Given the description of an element on the screen output the (x, y) to click on. 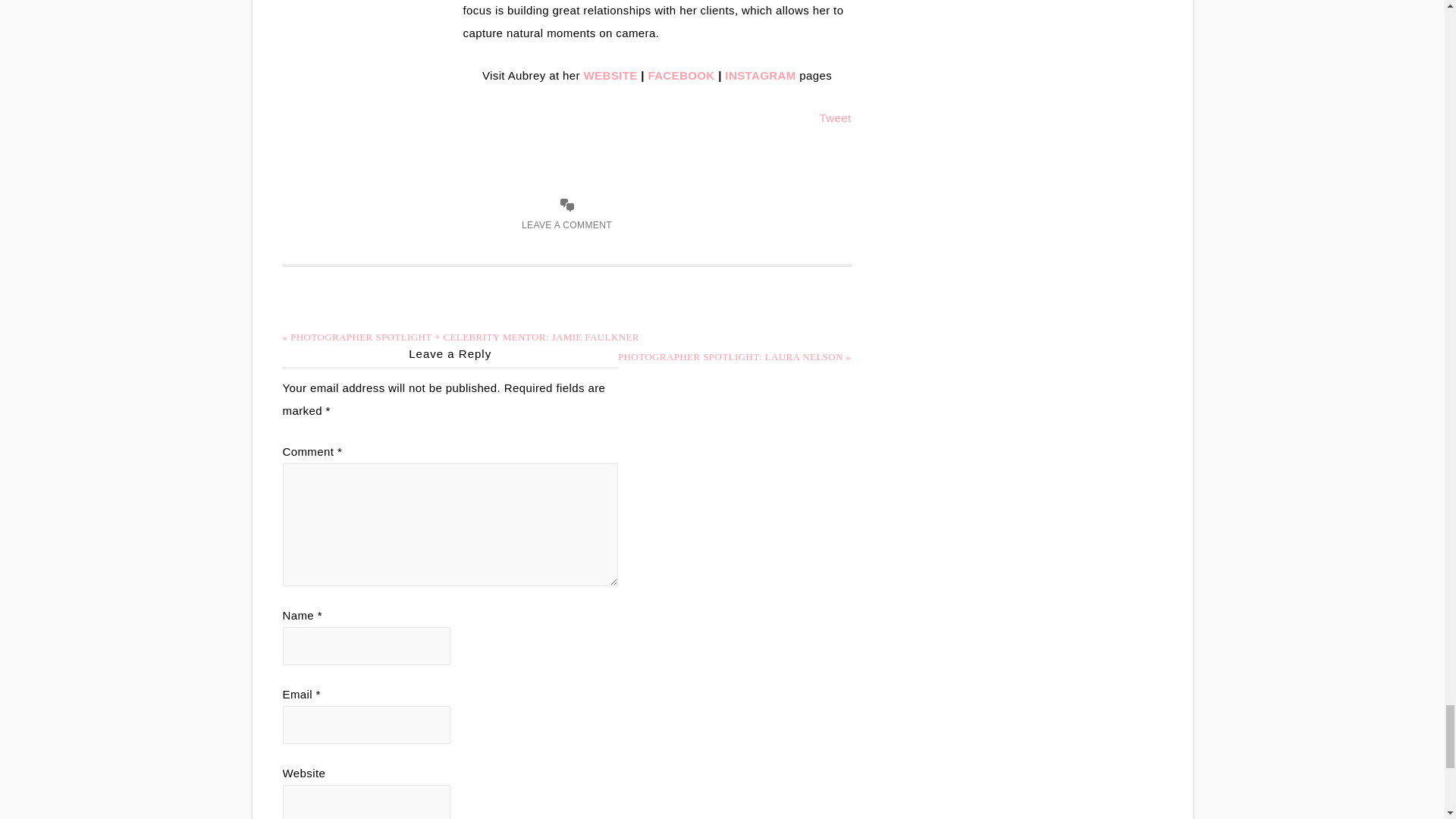
WEBSITE (610, 74)
FACEBOOK (680, 74)
Tweet (834, 117)
LEAVE A COMMENT (566, 225)
INSTAGRAM (759, 74)
